Given the description of an element on the screen output the (x, y) to click on. 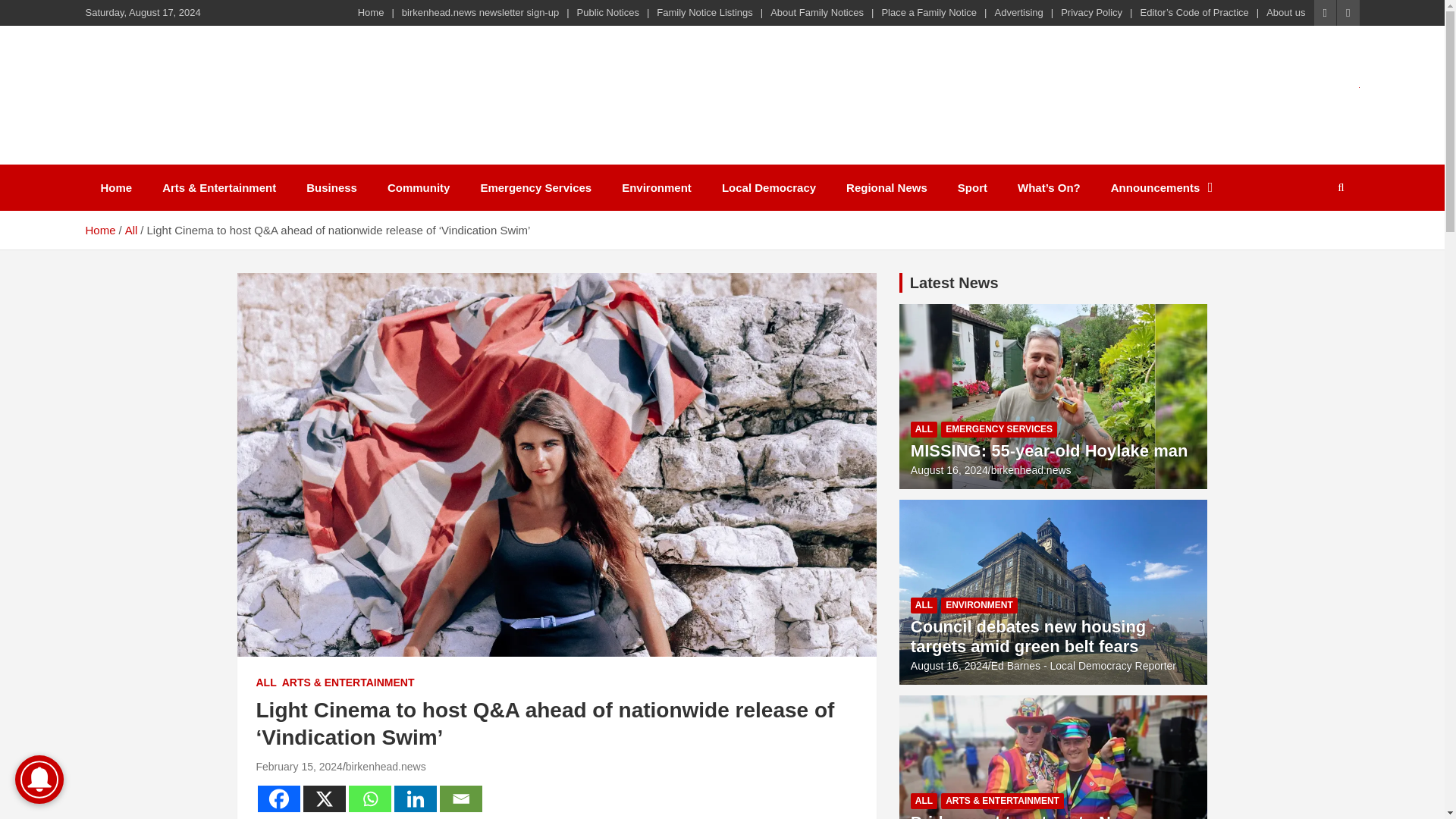
Community (418, 187)
birkenhead.news newsletter sign-up (480, 12)
Local Democracy (768, 187)
Public Notices (607, 12)
Place a Family Notice (928, 12)
About Family Notices (816, 12)
All (131, 229)
Whatsapp (370, 798)
Business (331, 187)
About us (1285, 12)
